Given the description of an element on the screen output the (x, y) to click on. 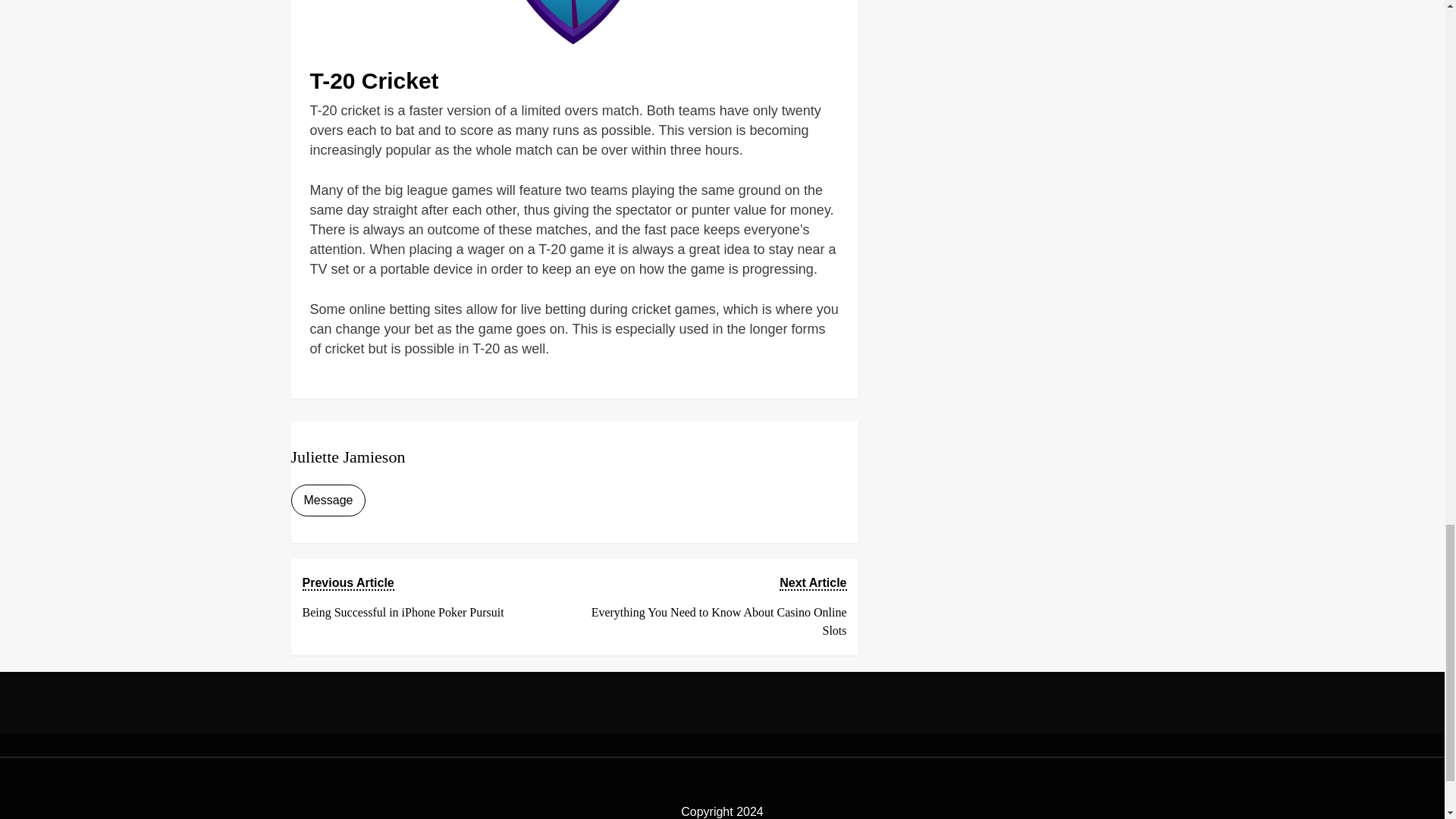
Juliette Jamieson (431, 597)
Posts by Juliette Jamieson (348, 456)
Message (348, 456)
